Given the description of an element on the screen output the (x, y) to click on. 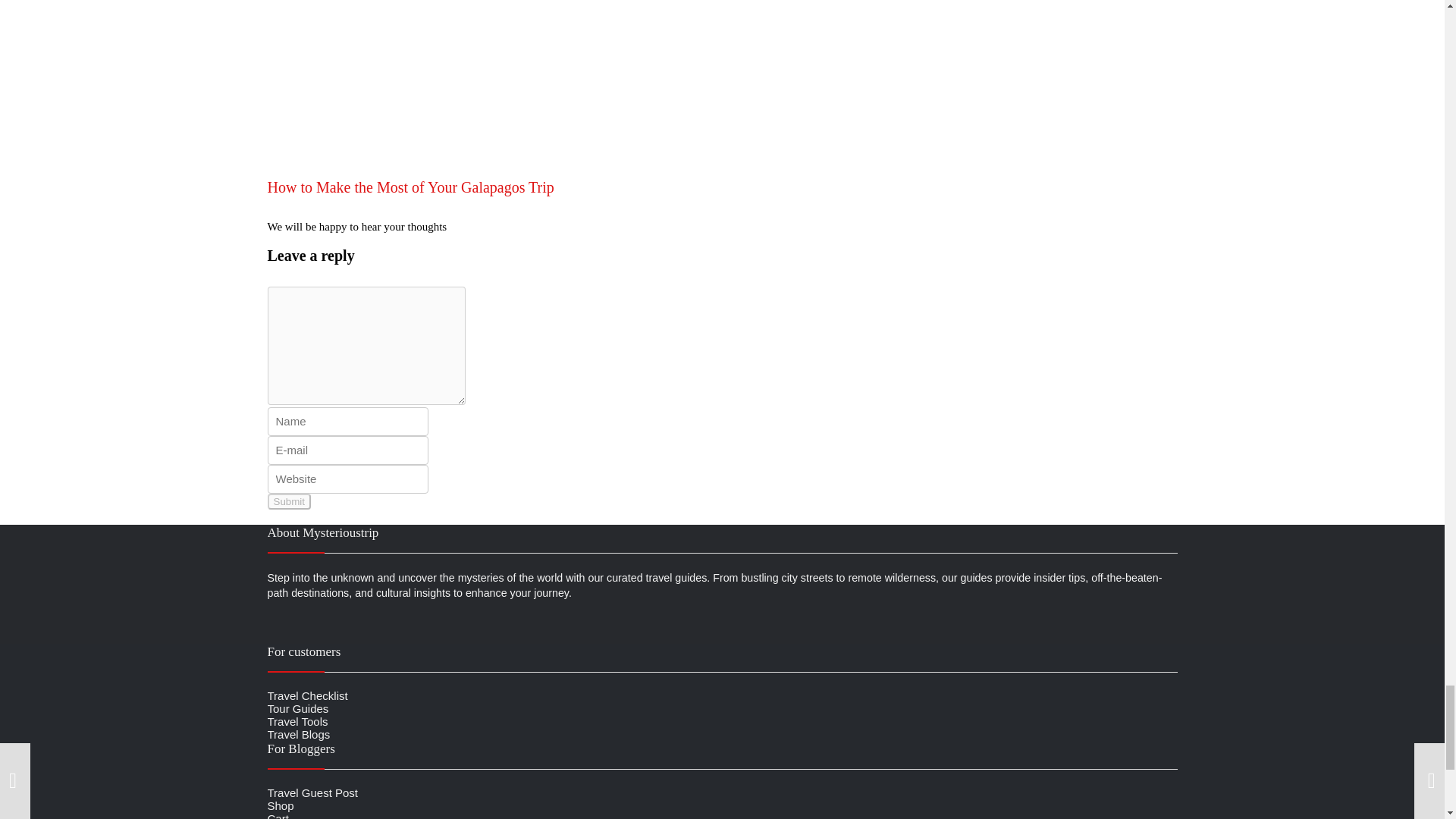
Submit (288, 501)
